Given the description of an element on the screen output the (x, y) to click on. 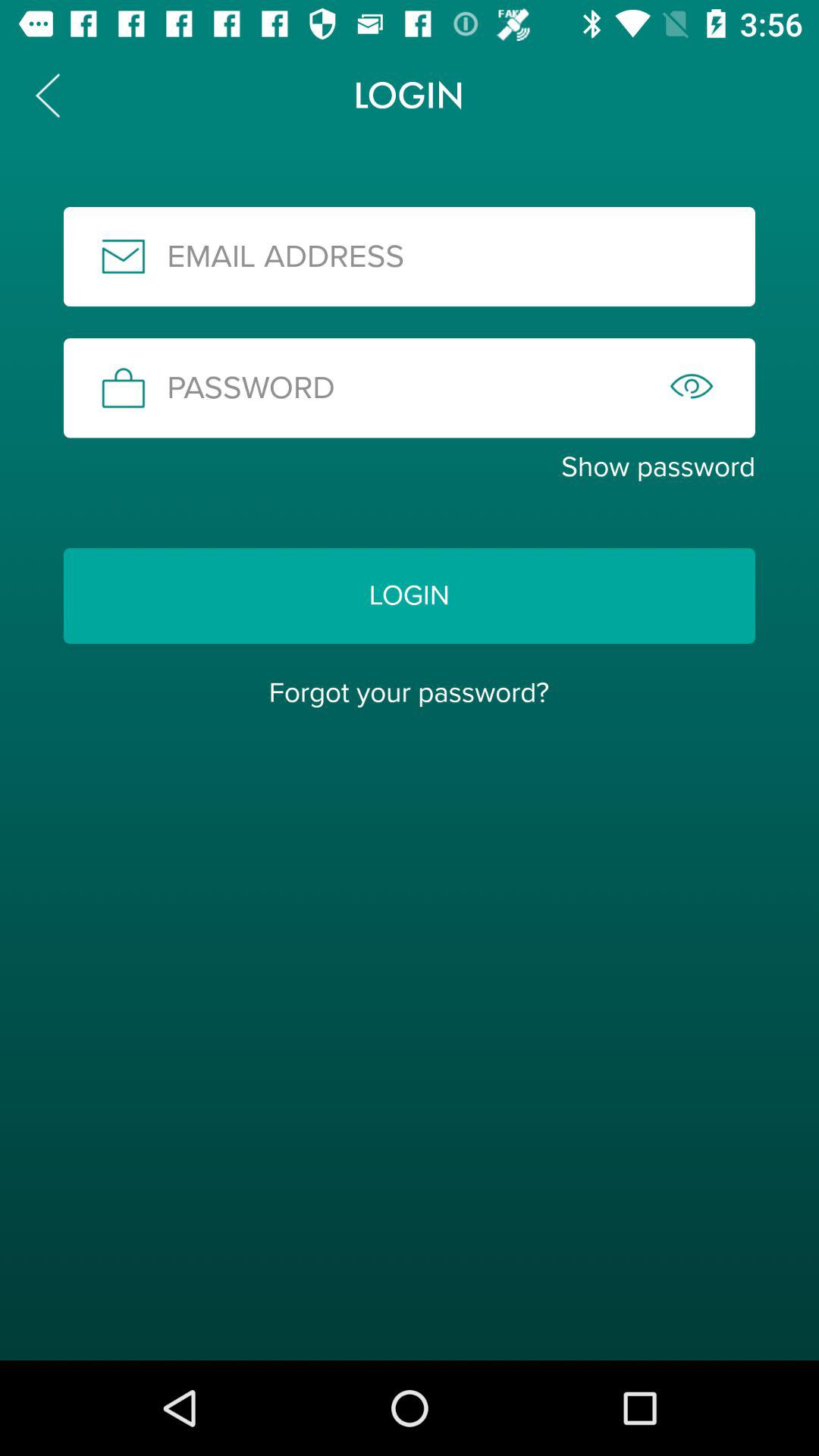
jump until show password icon (409, 466)
